Given the description of an element on the screen output the (x, y) to click on. 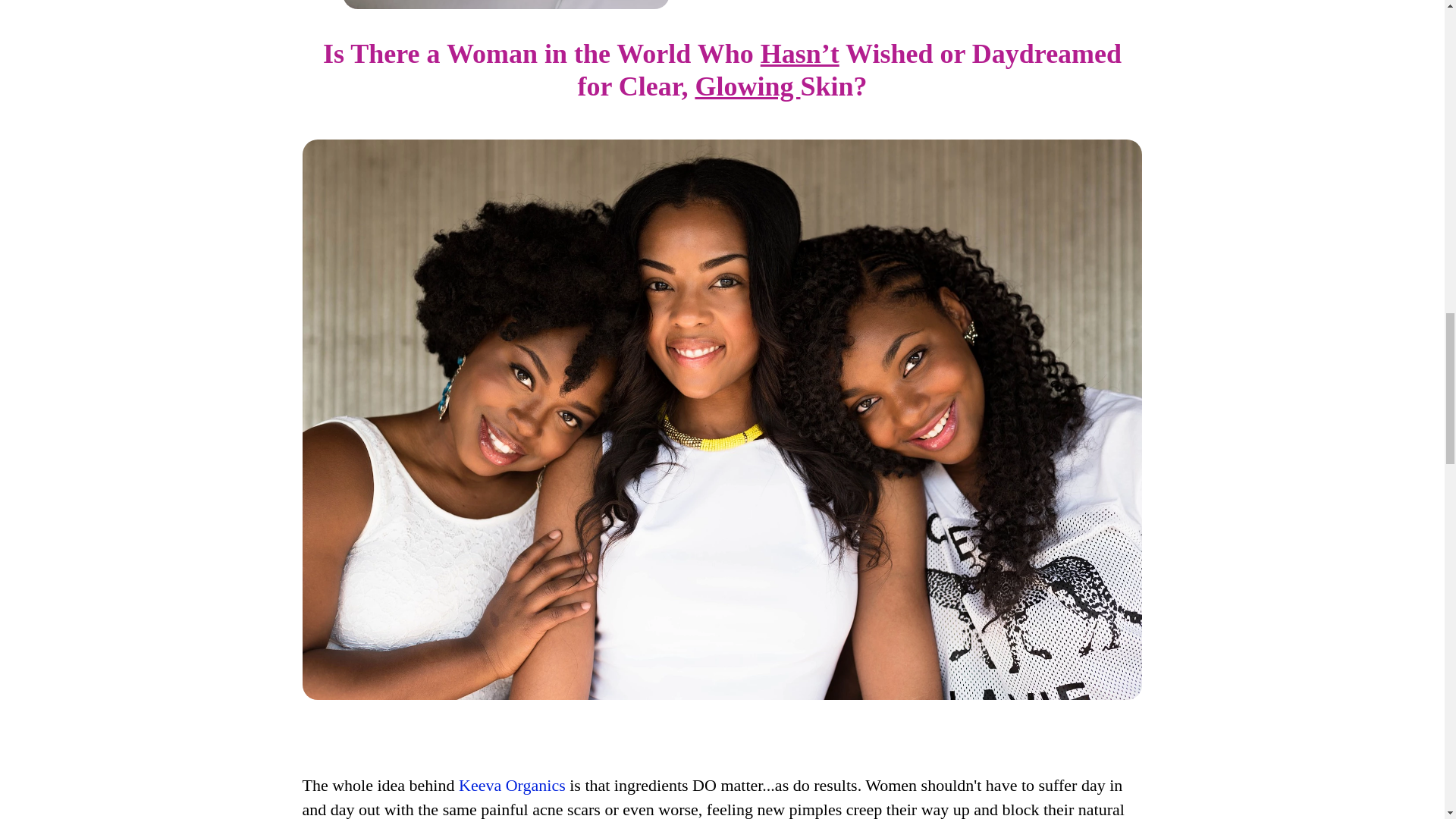
Keeva Organics (512, 784)
